Given the description of an element on the screen output the (x, y) to click on. 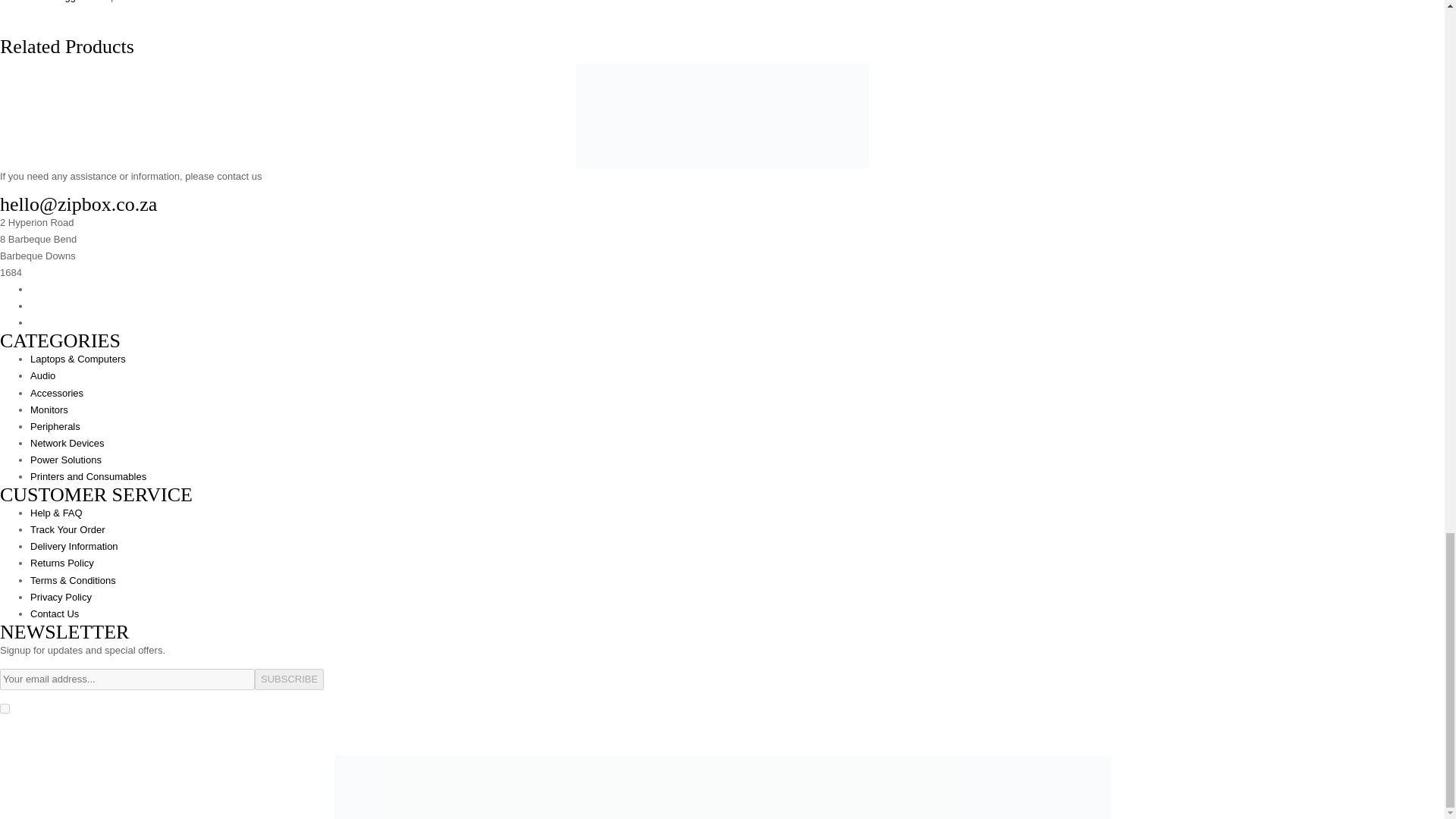
SUBSCRIBE (288, 679)
1 (5, 708)
